Given the description of an element on the screen output the (x, y) to click on. 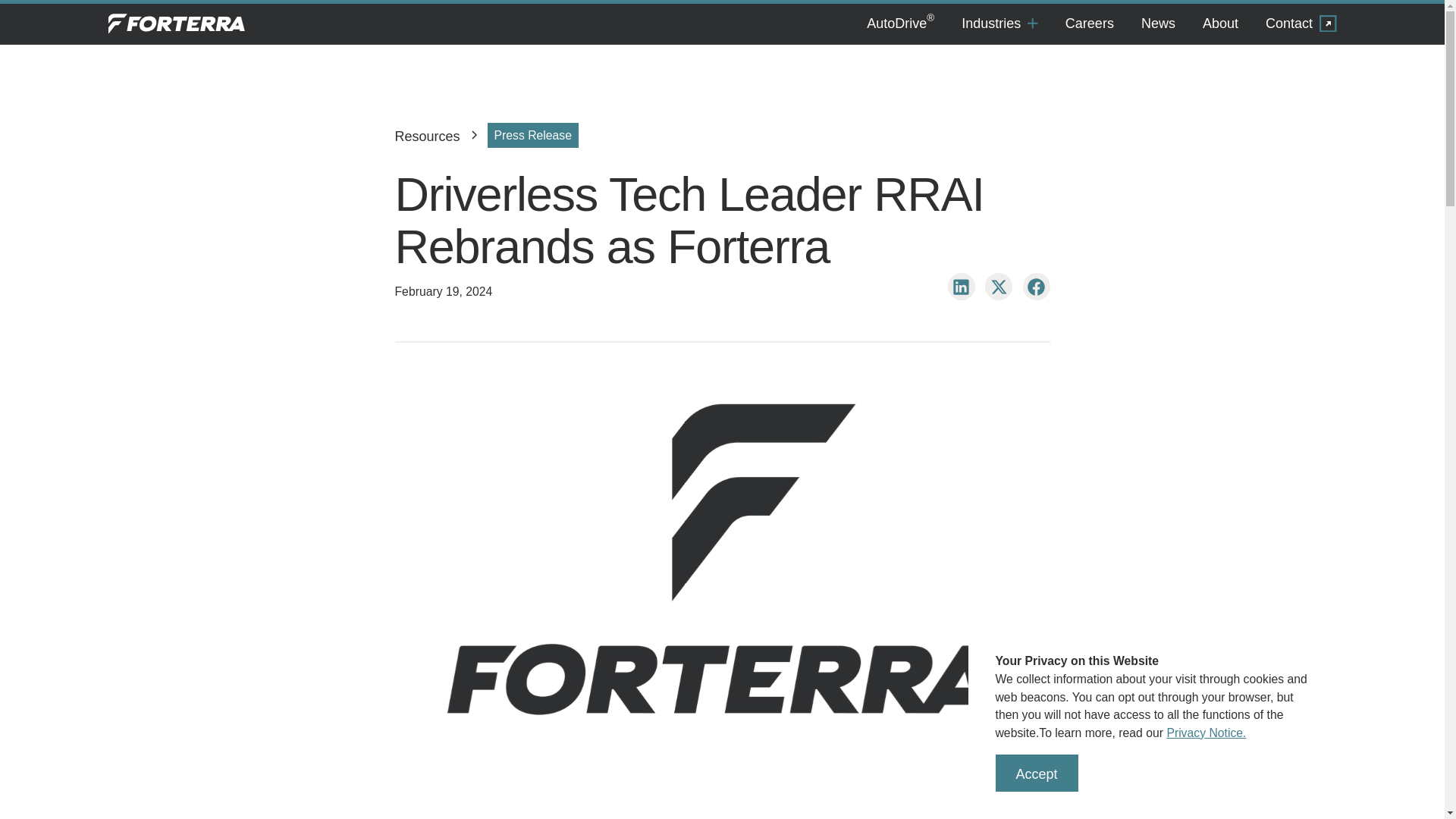
About (1220, 23)
Contact (1300, 23)
Careers (1088, 23)
Resources (427, 135)
Privacy Notice. (1206, 732)
Accept (1035, 772)
News (1157, 23)
